Given the description of an element on the screen output the (x, y) to click on. 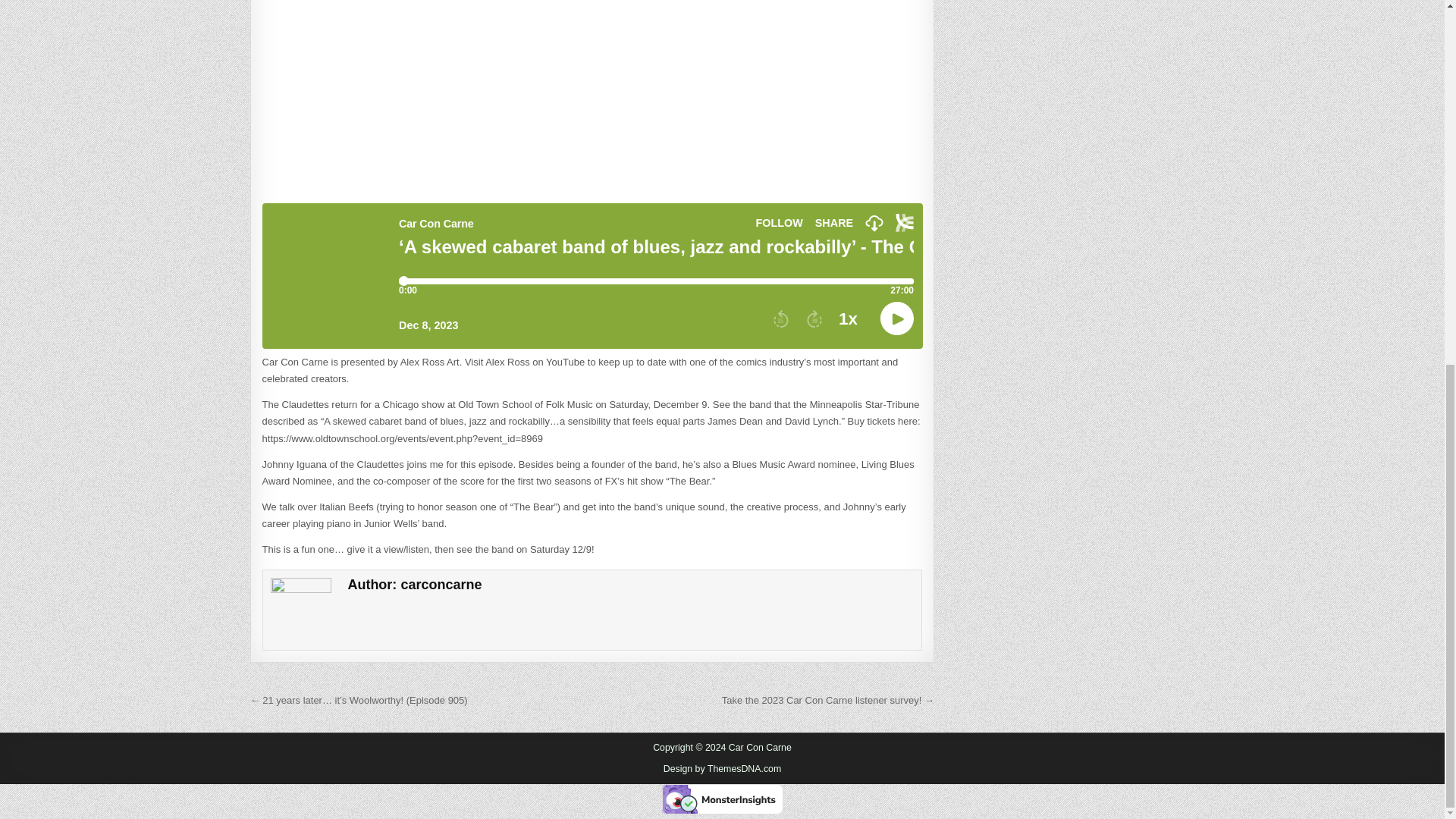
YouTube video player (592, 97)
Verified by MonsterInsights (722, 798)
Design by ThemesDNA.com (722, 768)
Embed Player (592, 275)
